Given the description of an element on the screen output the (x, y) to click on. 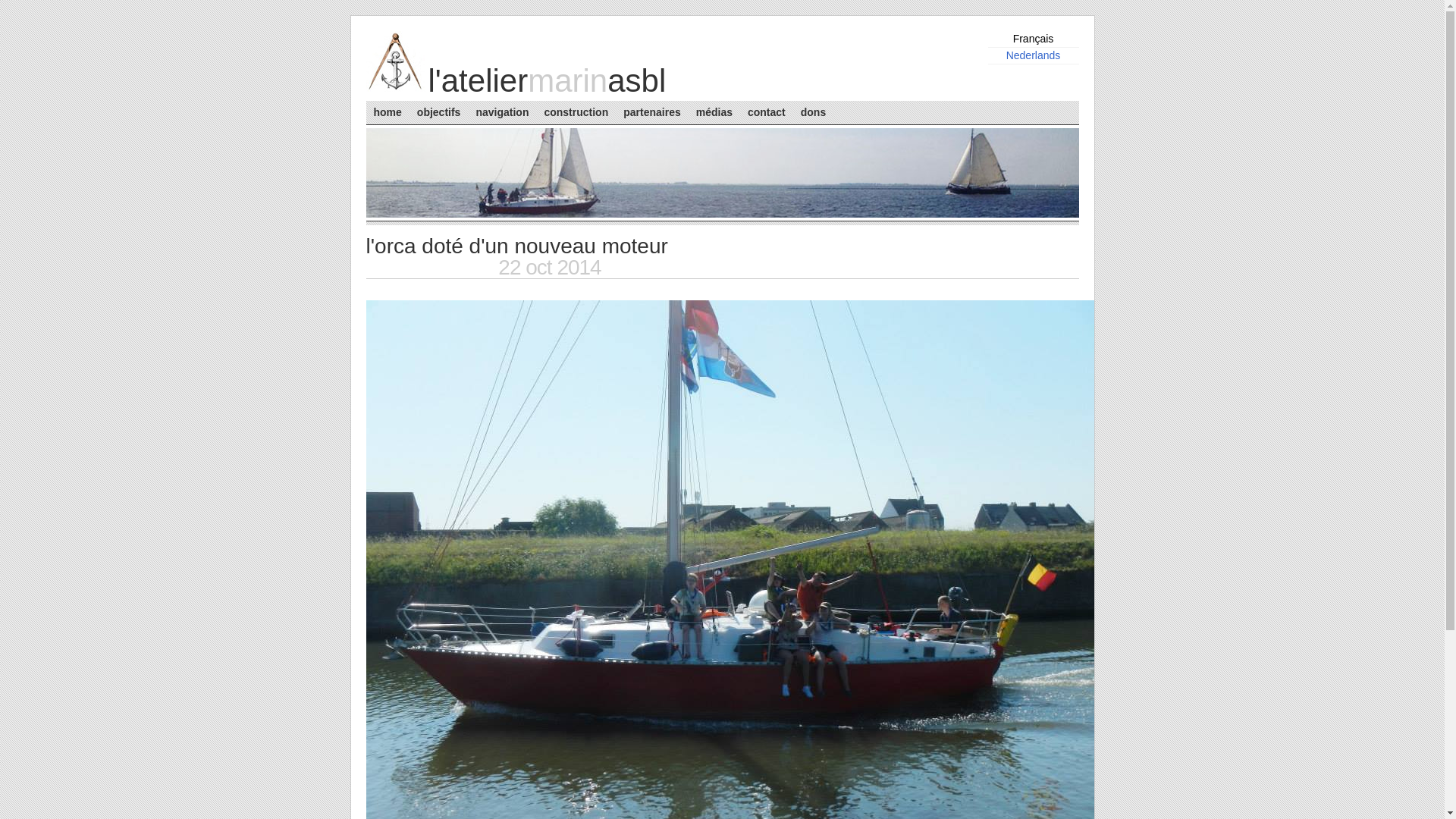
contact Element type: text (766, 112)
Nederlands Element type: text (1033, 55)
l'ateliermarinasbl Element type: text (546, 80)
construction Element type: text (575, 112)
partenaires Element type: text (651, 112)
L'Atelier Marin ASBL Element type: hover (394, 87)
home Element type: text (386, 112)
navigation Element type: text (501, 112)
dons Element type: text (813, 112)
objectifs Element type: text (438, 112)
